Given the description of an element on the screen output the (x, y) to click on. 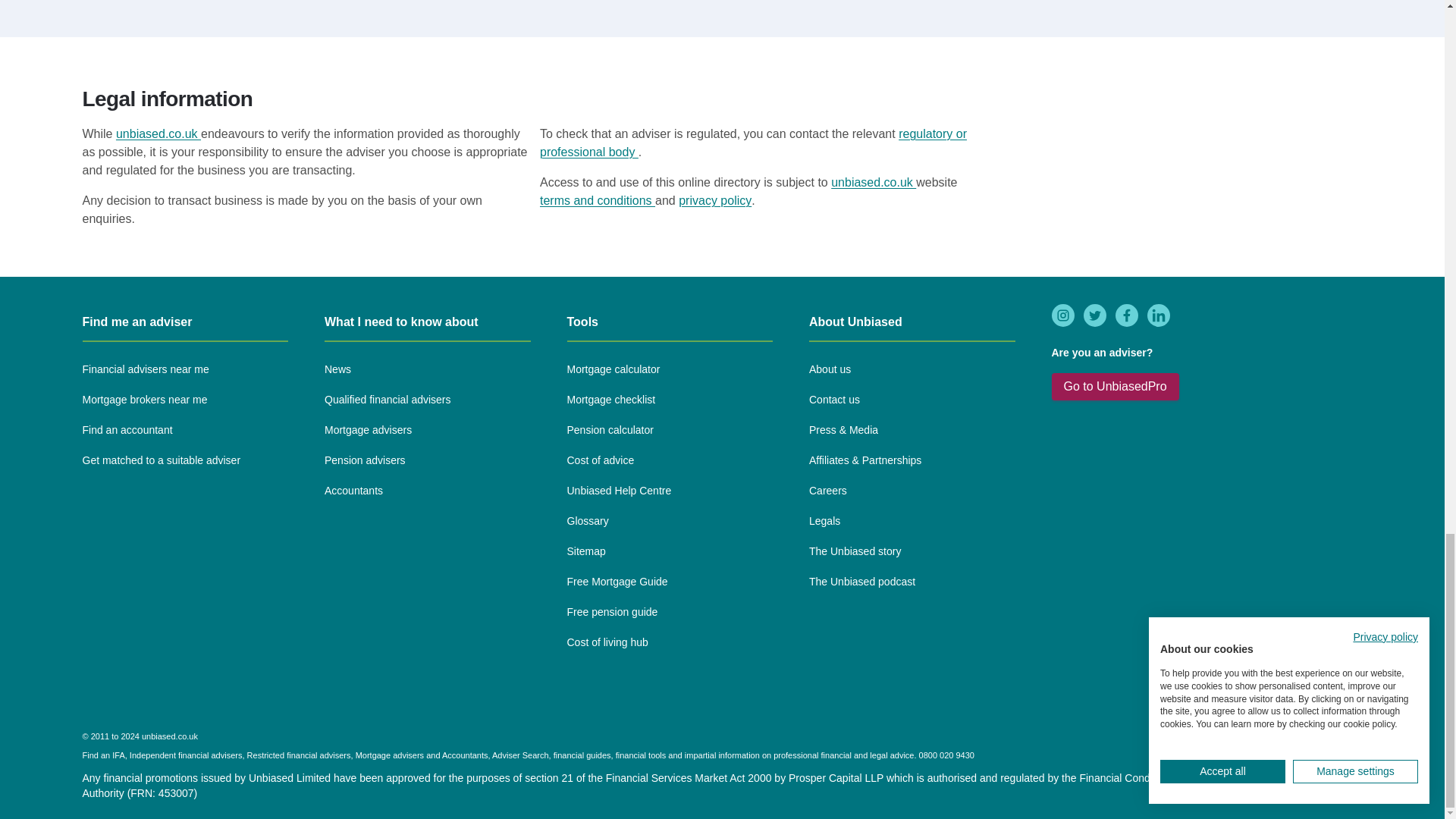
terms and conditions (597, 200)
Mortgage brokers near me (143, 400)
unbiased.co.uk (158, 133)
unbiased.co.uk (873, 182)
Financial advisers near me (144, 369)
privacy policy (714, 200)
Find an accountant (126, 430)
regulatory or professional body (753, 142)
